Given the description of an element on the screen output the (x, y) to click on. 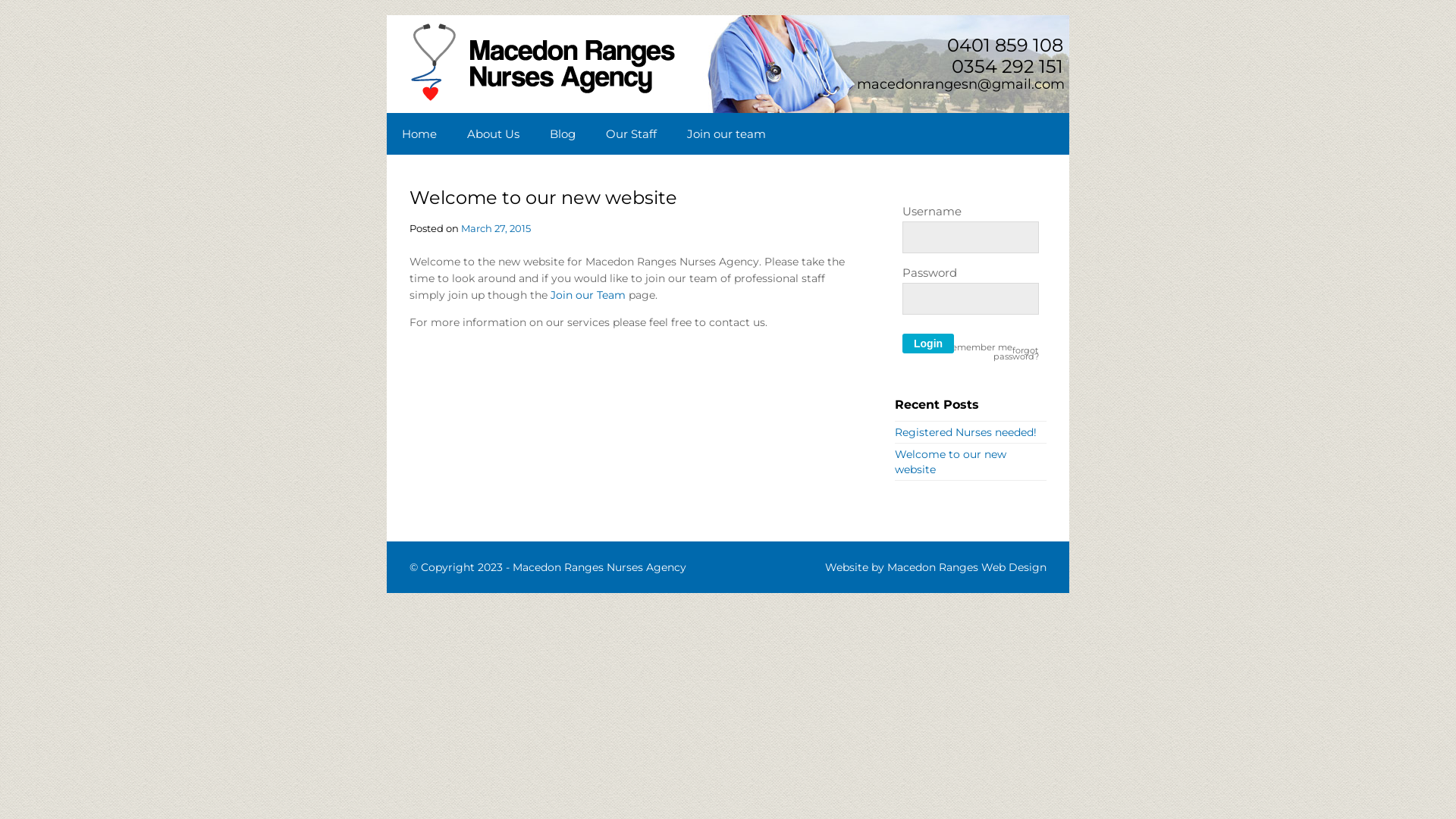
Home Element type: text (418, 133)
About Us Element type: text (492, 133)
Macedon Ranges Nurses Agency Element type: text (599, 567)
Join our Team Element type: text (587, 294)
Blog Element type: text (562, 133)
Macedon Ranges Nurses Agency Element type: hover (542, 98)
Registered Nurses needed! Element type: text (965, 432)
Macedon Ranges Web Design Element type: text (966, 567)
Join our team Element type: text (726, 133)
Login Element type: text (927, 343)
Our Staff Element type: text (630, 133)
Welcome to our new website Element type: text (950, 461)
